Given the description of an element on the screen output the (x, y) to click on. 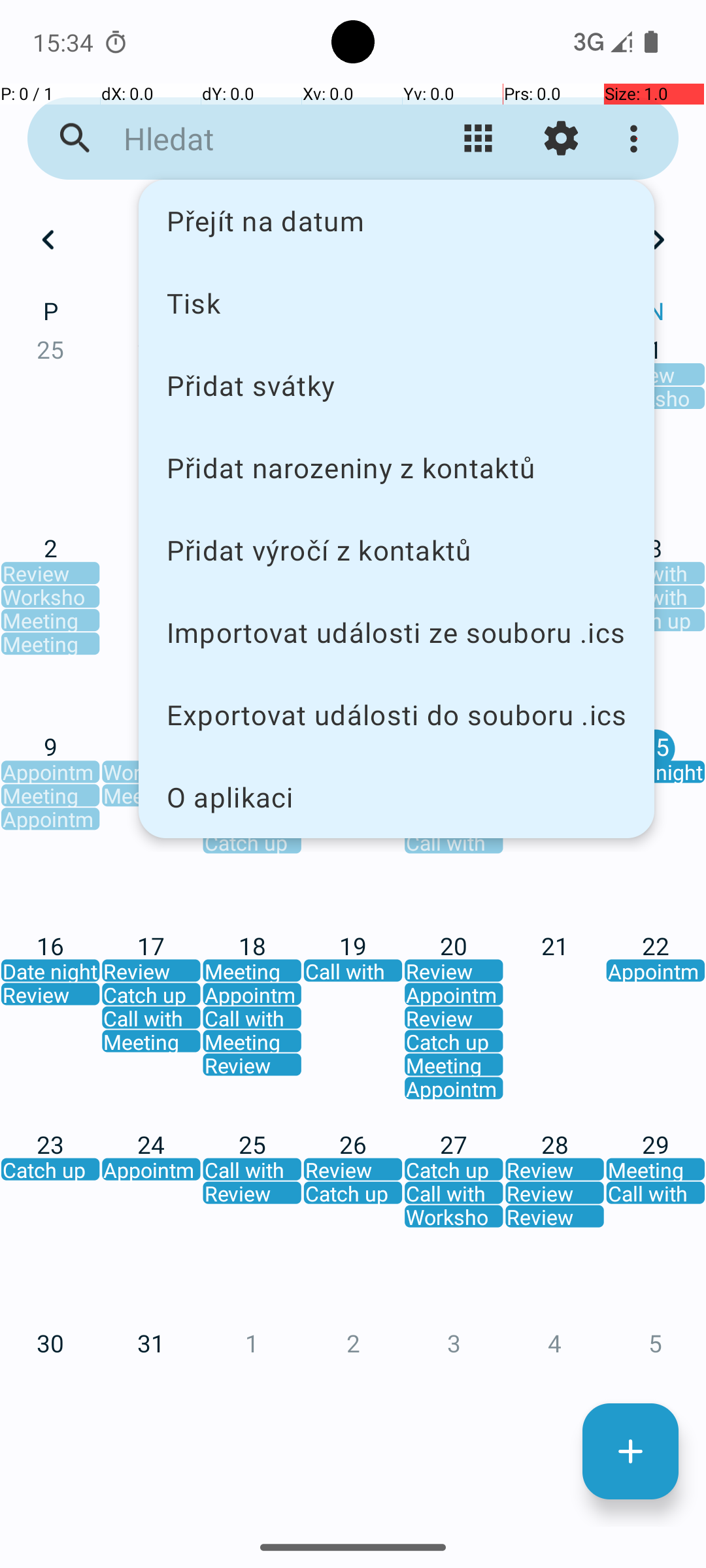
Přejít na datum Element type: android.widget.TextView (396, 220)
Tisk Element type: android.widget.TextView (396, 302)
Přidat svátky Element type: android.widget.TextView (396, 384)
Přidat narozeniny z kontaktů Element type: android.widget.TextView (396, 467)
Přidat výročí z kontaktů Element type: android.widget.TextView (396, 549)
Importovat události ze souboru .ics Element type: android.widget.TextView (396, 631)
Exportovat události do souboru .ics Element type: android.widget.TextView (396, 714)
O aplikaci Element type: android.widget.TextView (396, 796)
